Given the description of an element on the screen output the (x, y) to click on. 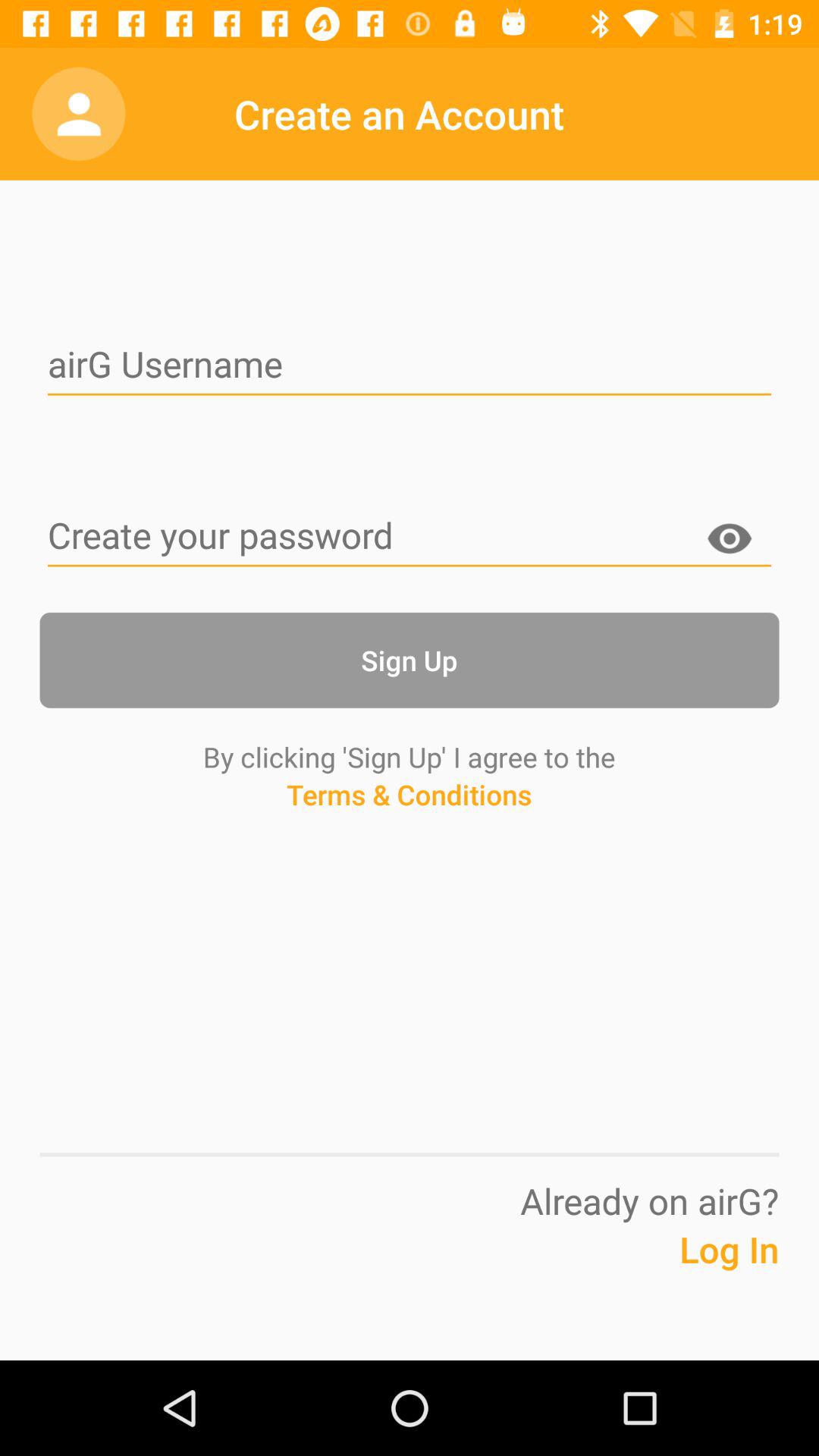
launch the log in item (691, 1272)
